Given the description of an element on the screen output the (x, y) to click on. 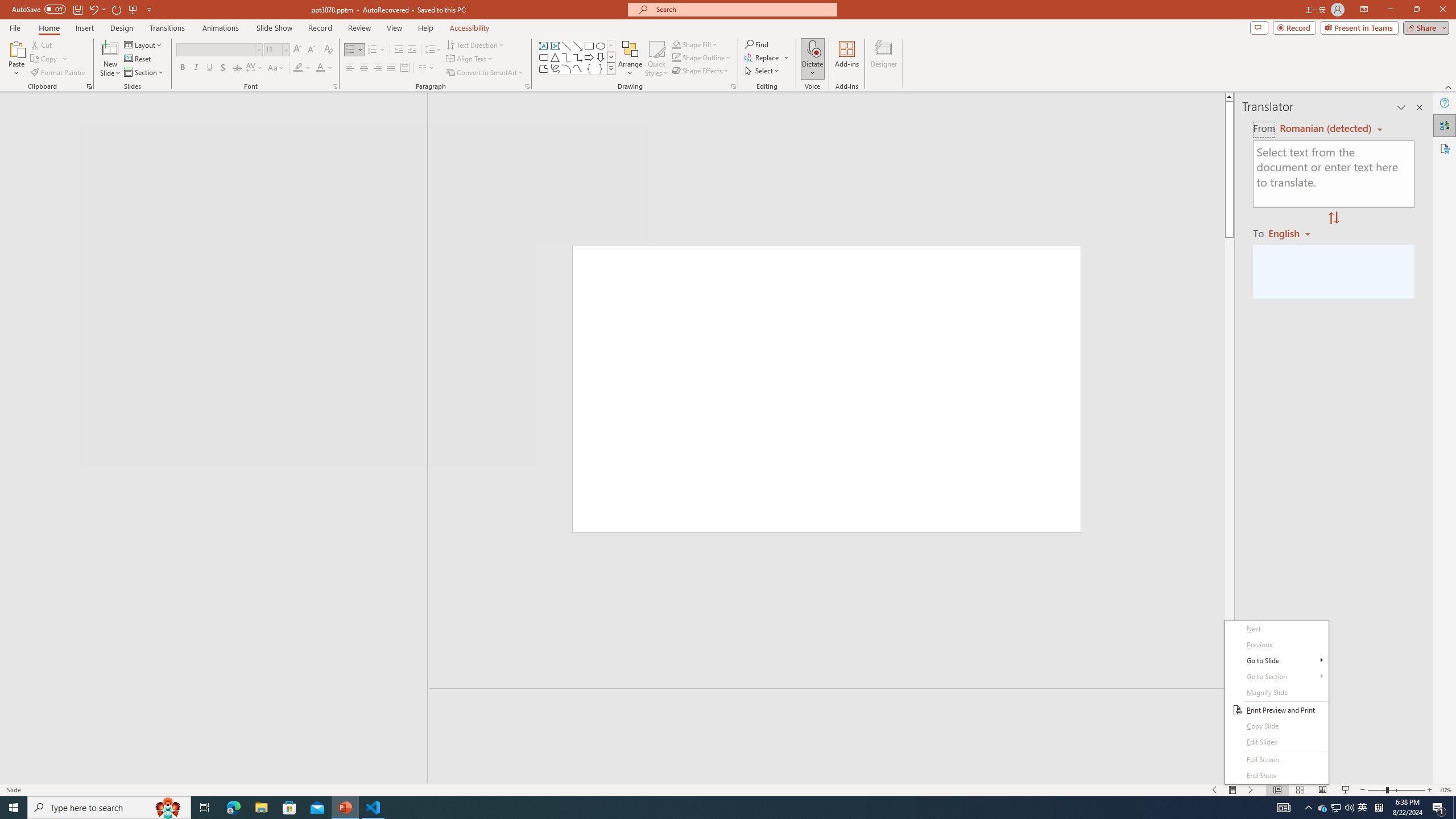
Line Spacing (433, 49)
Layout (143, 44)
Arc (566, 68)
Clear Formatting (327, 49)
